Given the description of an element on the screen output the (x, y) to click on. 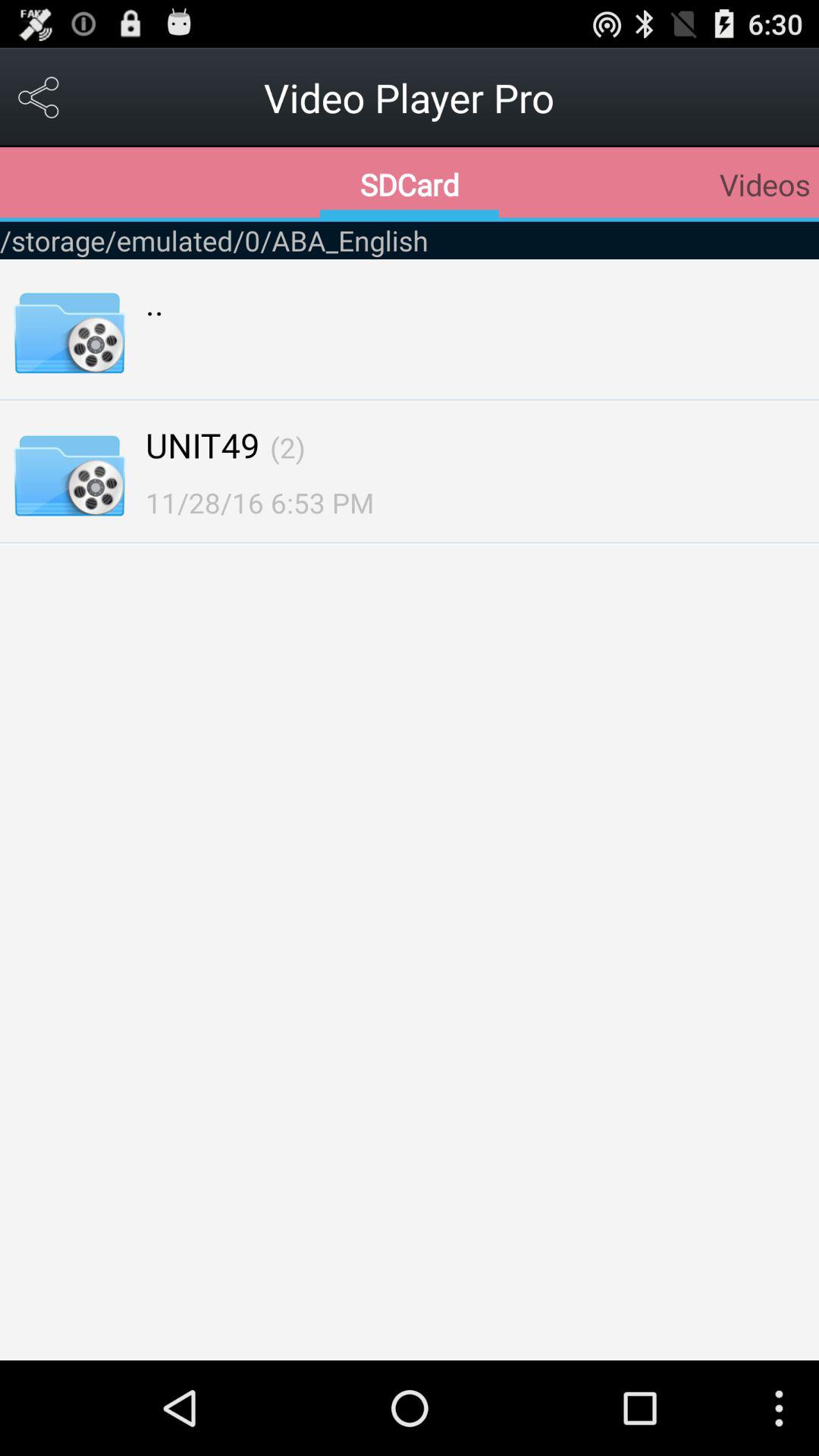
open item below the .. item (202, 445)
